Given the description of an element on the screen output the (x, y) to click on. 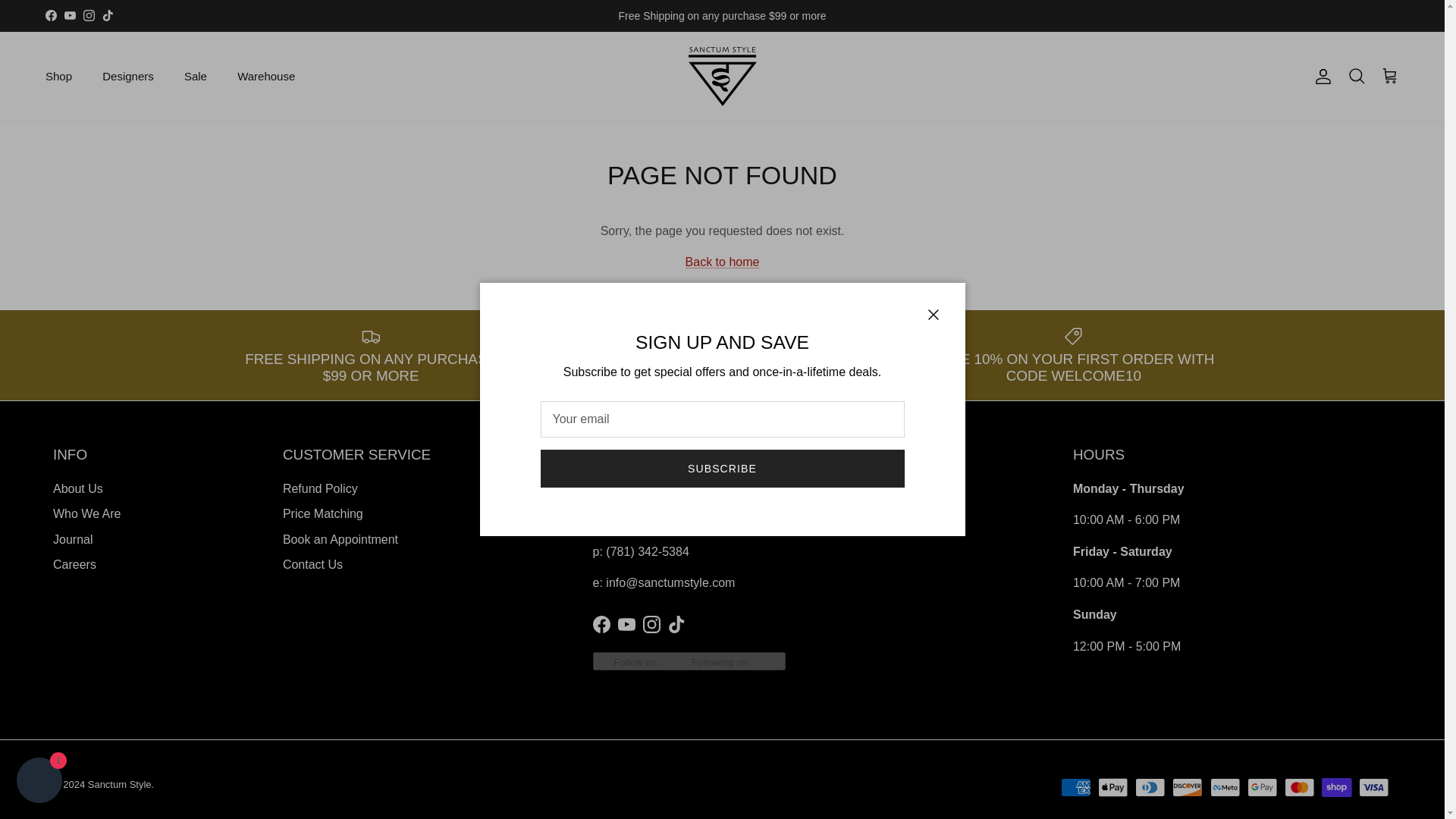
Sanctum Style on Instagram (88, 15)
Designers (127, 76)
Search (1356, 76)
Sanctum Style on Instagram (652, 624)
Sanctum Style on YouTube (625, 624)
Discover (1187, 787)
Account (1319, 76)
Sale (195, 76)
Sanctum Style on Facebook (601, 624)
Cart (1389, 76)
Meta Pay (1224, 787)
Instagram (88, 15)
Diners Club (1149, 787)
Sanctum Style (722, 76)
Google Pay (1261, 787)
